Given the description of an element on the screen output the (x, y) to click on. 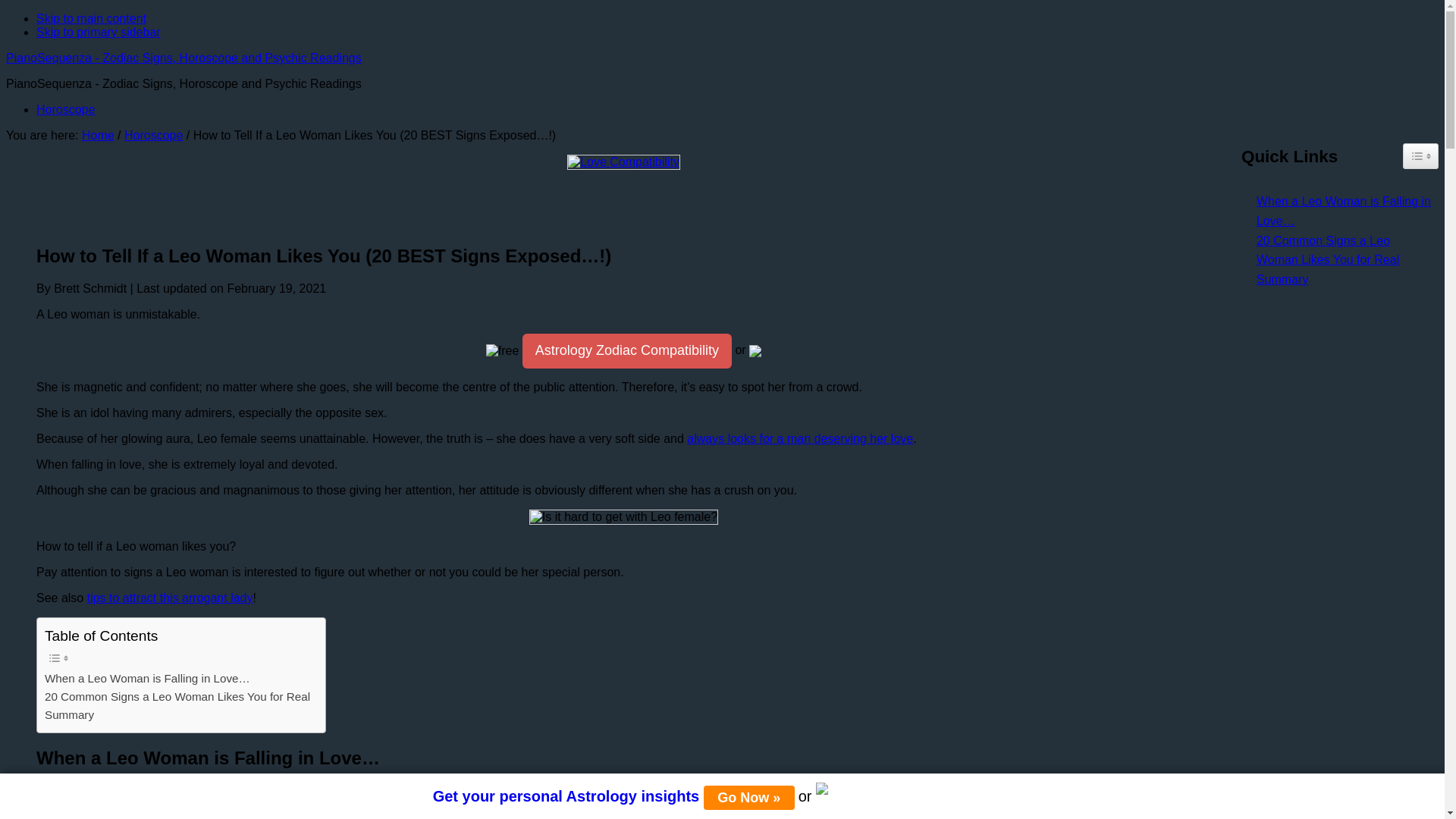
the queen of the zodiac (140, 814)
Horoscope (153, 134)
When a Leo Woman is Falling in Love (1041, 799)
Home (98, 134)
Horoscope (65, 109)
Summary (69, 714)
PianoSequenza - Zodiac Signs, Horoscope and Psychic Readings (183, 57)
20 Common Signs a Leo Woman Likes You for Real (1340, 250)
20 Common Signs a Leo Woman Likes You for Real (177, 696)
tips to attract this arrogant lady (170, 597)
